Given the description of an element on the screen output the (x, y) to click on. 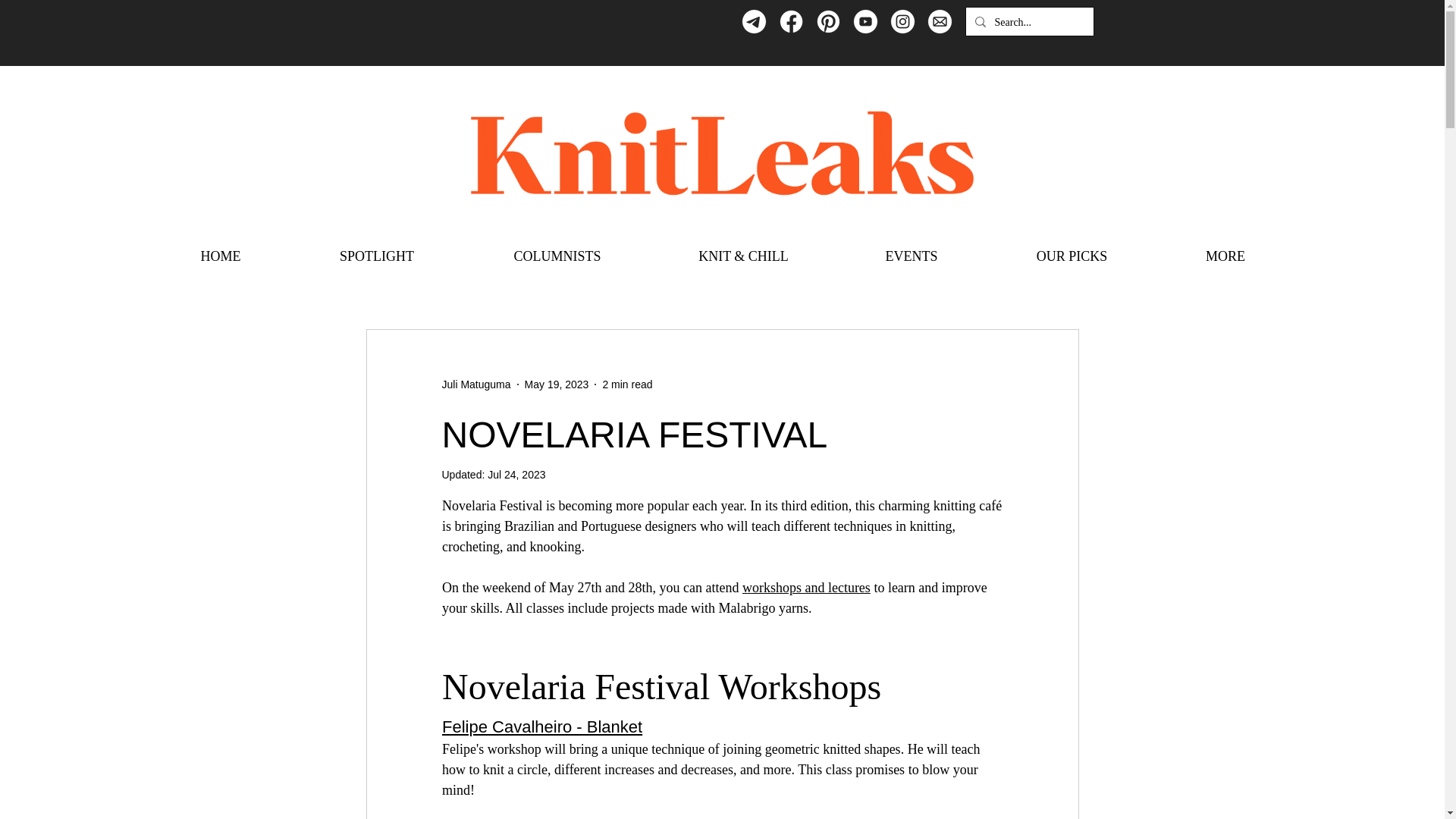
COLUMNISTS (557, 256)
Juli Matuguma (476, 383)
HOME (220, 256)
Juli Matuguma (476, 383)
May 19, 2023 (556, 383)
Jul 24, 2023 (515, 474)
workshops and lectures (805, 587)
Felipe Cavalheiro - Blanket (541, 726)
2 min read (627, 383)
